Given the description of an element on the screen output the (x, y) to click on. 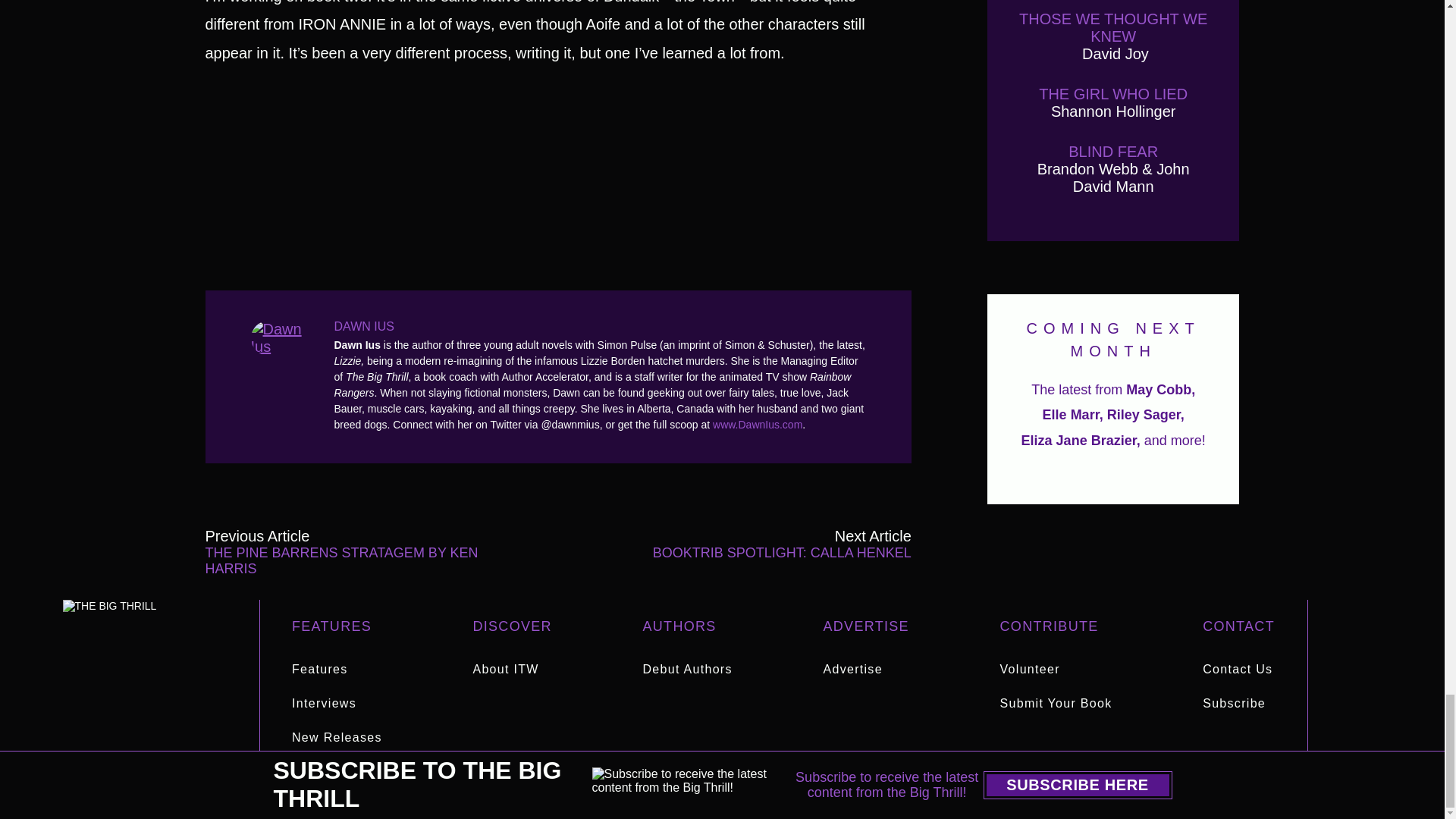
BookTrib Spotlight: Calla Henkel (769, 552)
Dawn Ius (284, 337)
The Pine Barrens Stratagem by Ken Harris (346, 552)
